Given the description of an element on the screen output the (x, y) to click on. 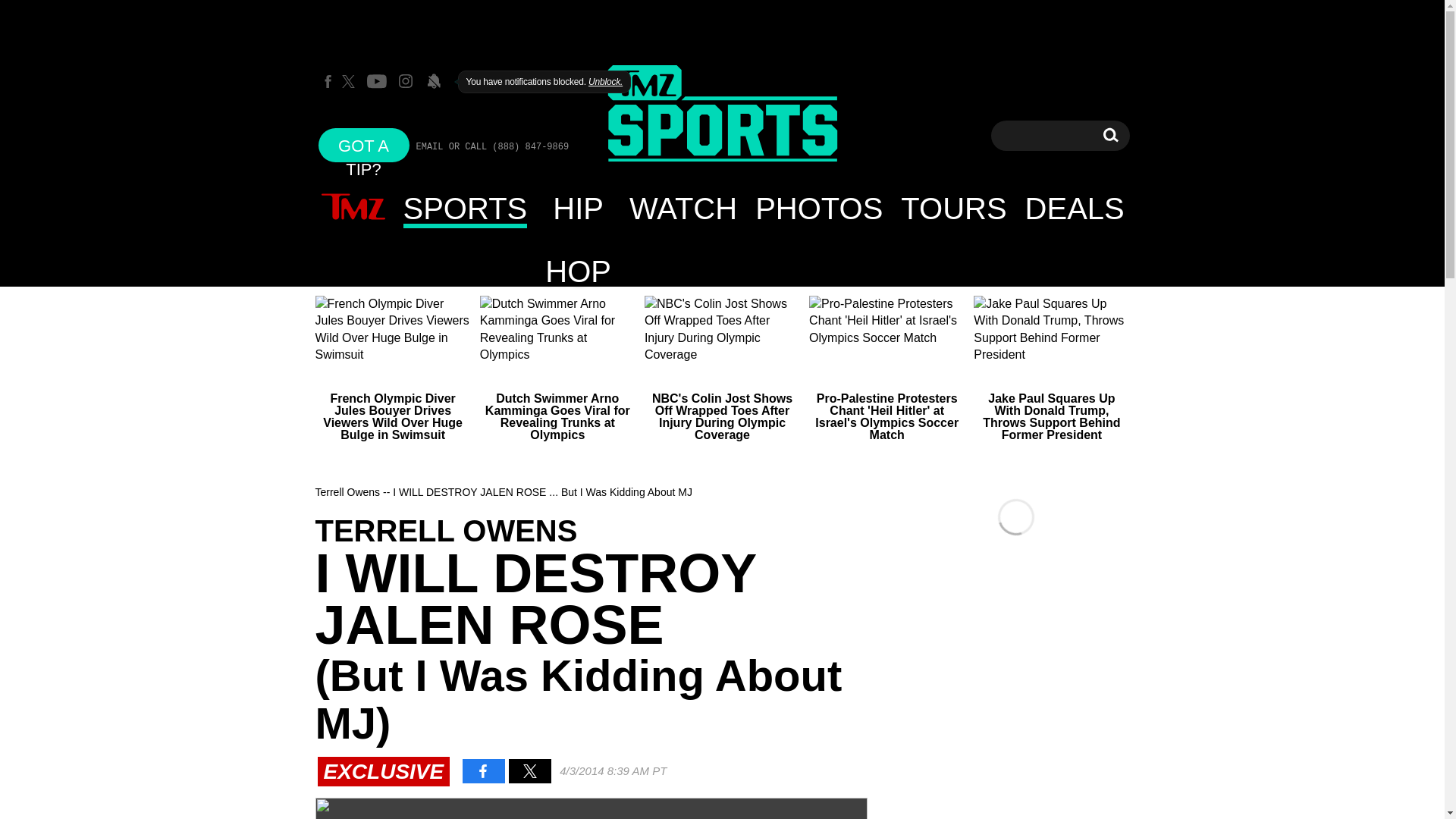
NEWS (353, 207)
GOT A TIP? (363, 144)
HIP HOP (577, 207)
TMZ Sports (722, 113)
Search (1110, 134)
TOURS (952, 207)
DEALS (1075, 207)
WATCH (682, 207)
PHOTOS (818, 207)
TMZ Sports (722, 115)
SPORTS (465, 207)
